Given the description of an element on the screen output the (x, y) to click on. 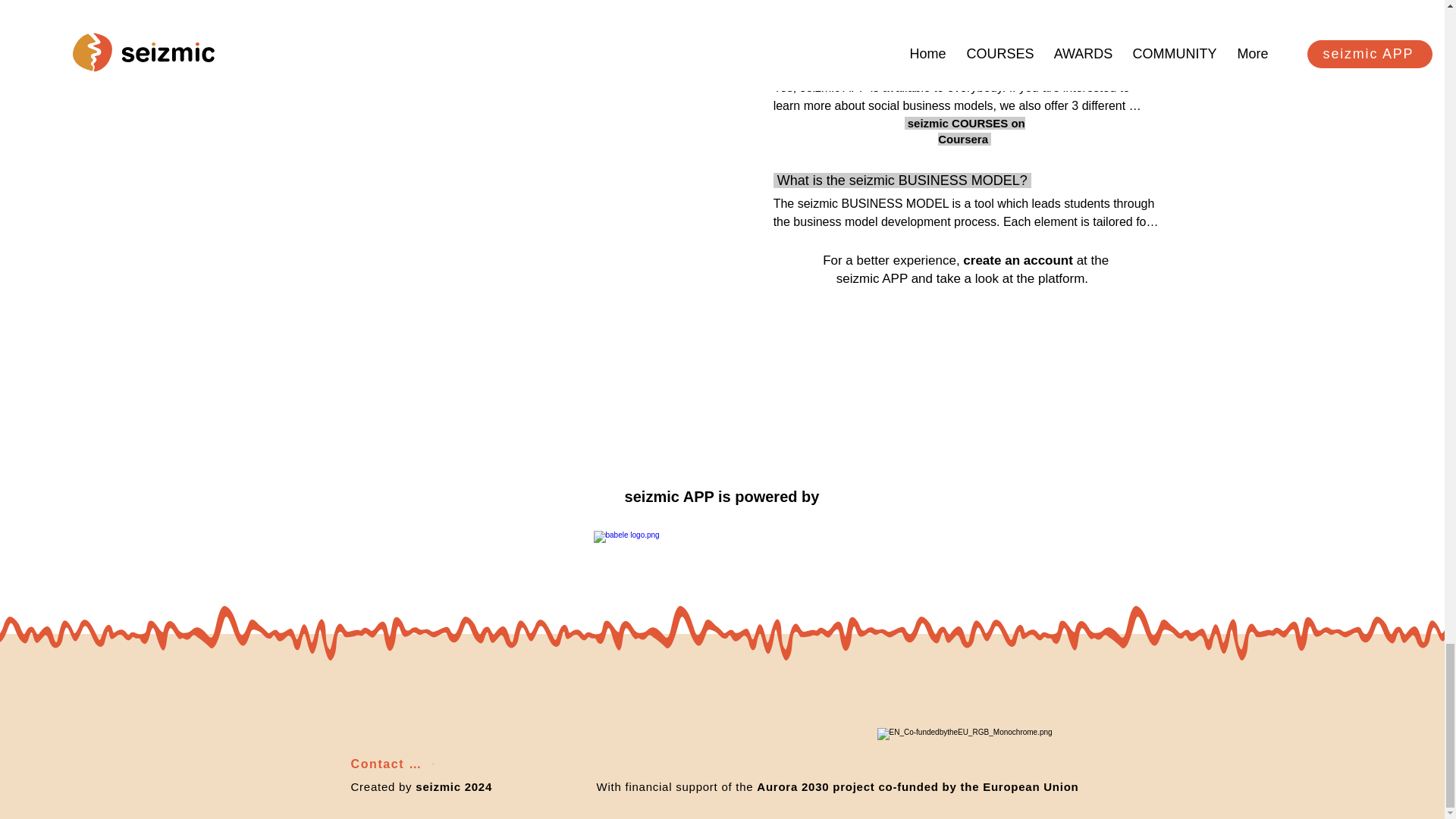
Contact us (391, 764)
 seizmic COURSES on Coursera  (964, 131)
an account at the seizmic APP (971, 269)
